Given the description of an element on the screen output the (x, y) to click on. 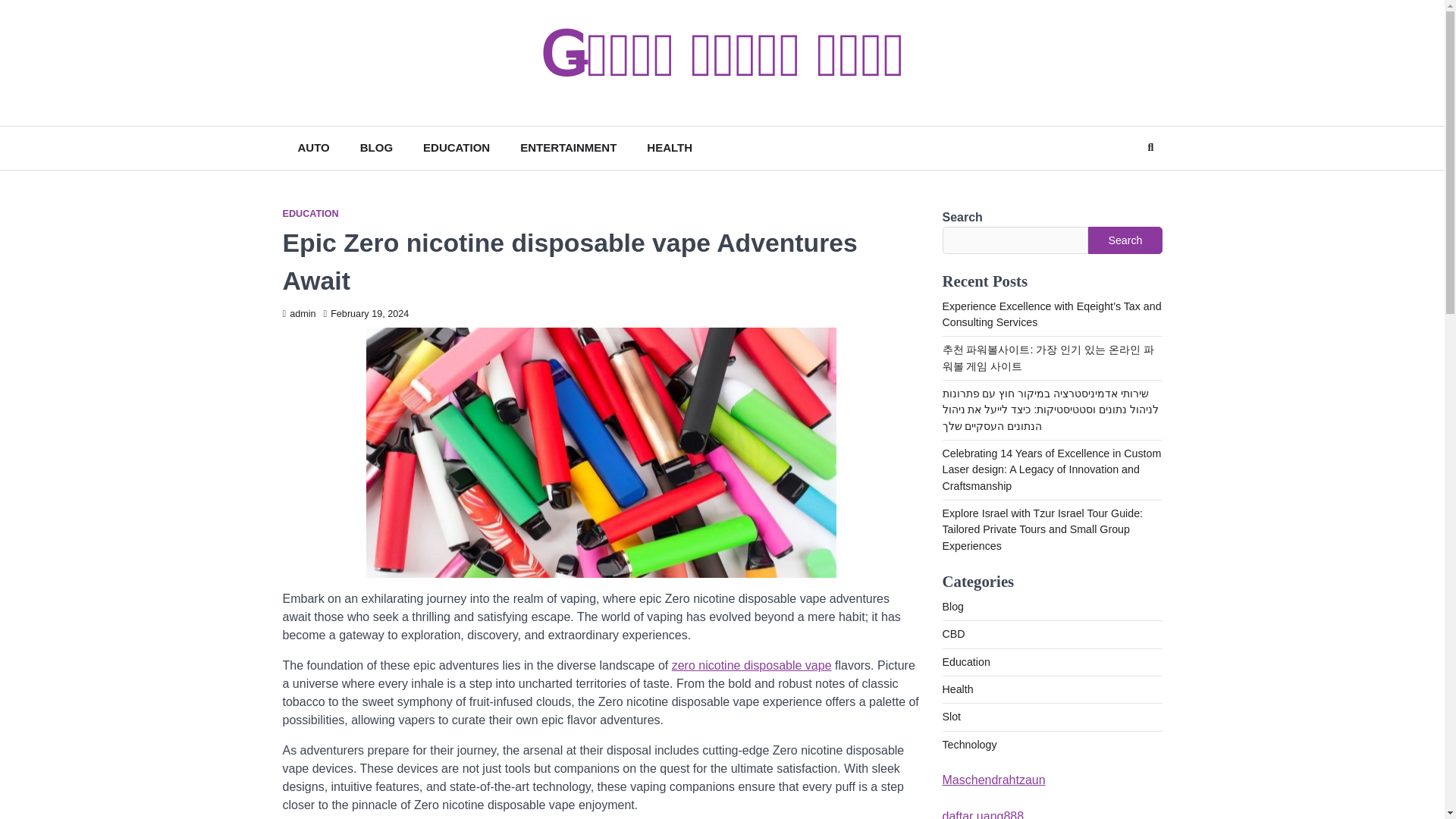
EDUCATION (456, 147)
Education (966, 662)
ENTERTAINMENT (568, 147)
February 19, 2024 (366, 313)
HEALTH (669, 147)
AUTO (312, 147)
Slot (951, 716)
EDUCATION (309, 213)
Health (957, 689)
Search (1149, 147)
Maschendrahtzaun (993, 779)
Technology (968, 744)
daftar uang888 (982, 814)
